Given the description of an element on the screen output the (x, y) to click on. 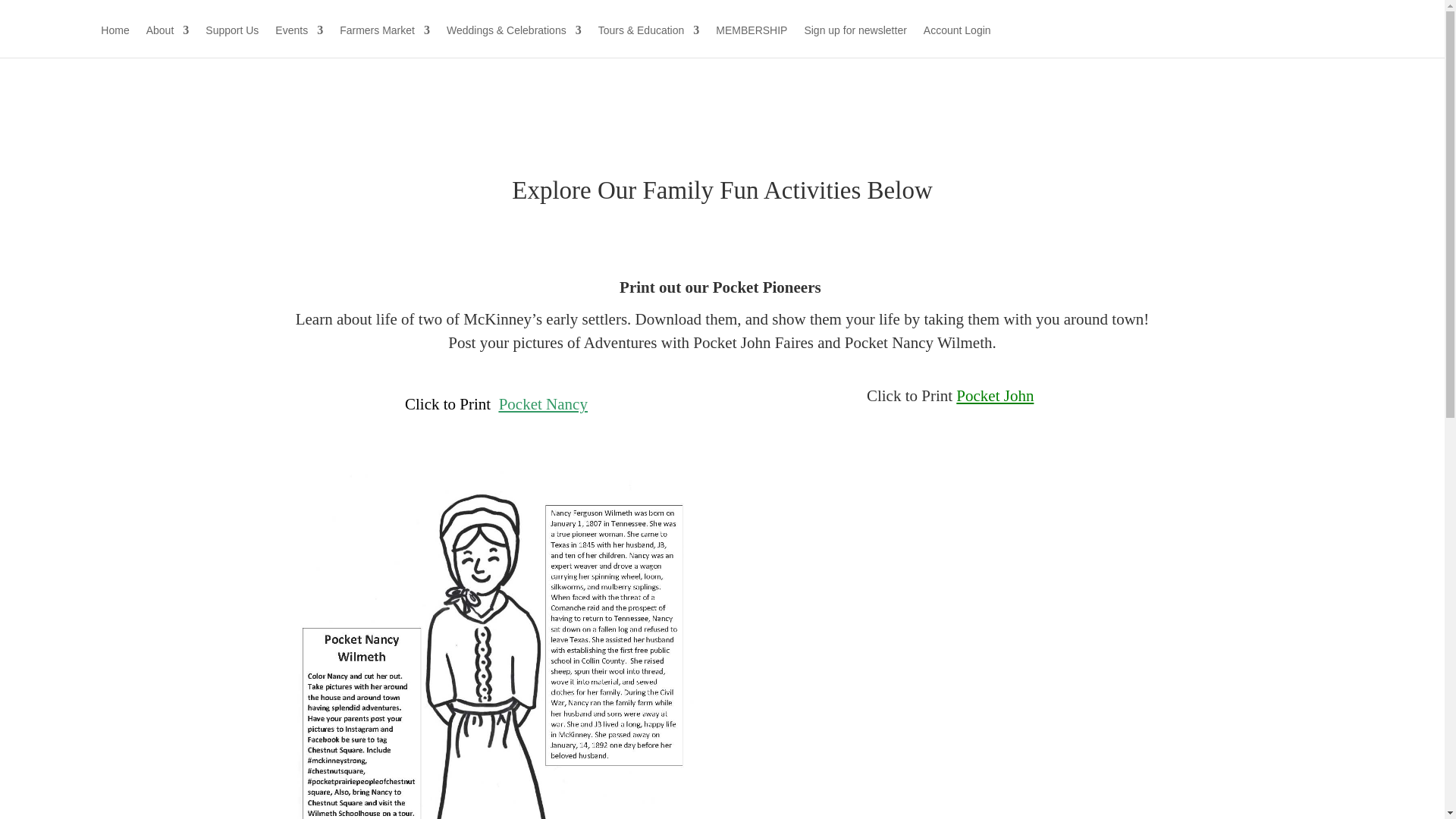
Sign up for newsletter (854, 41)
Pocket Nancy (543, 403)
MEMBERSHIP (751, 41)
Events (299, 41)
Support Us (232, 41)
Account Login (957, 41)
About (168, 41)
Pocket John (994, 395)
Farmers Market (384, 41)
